Given the description of an element on the screen output the (x, y) to click on. 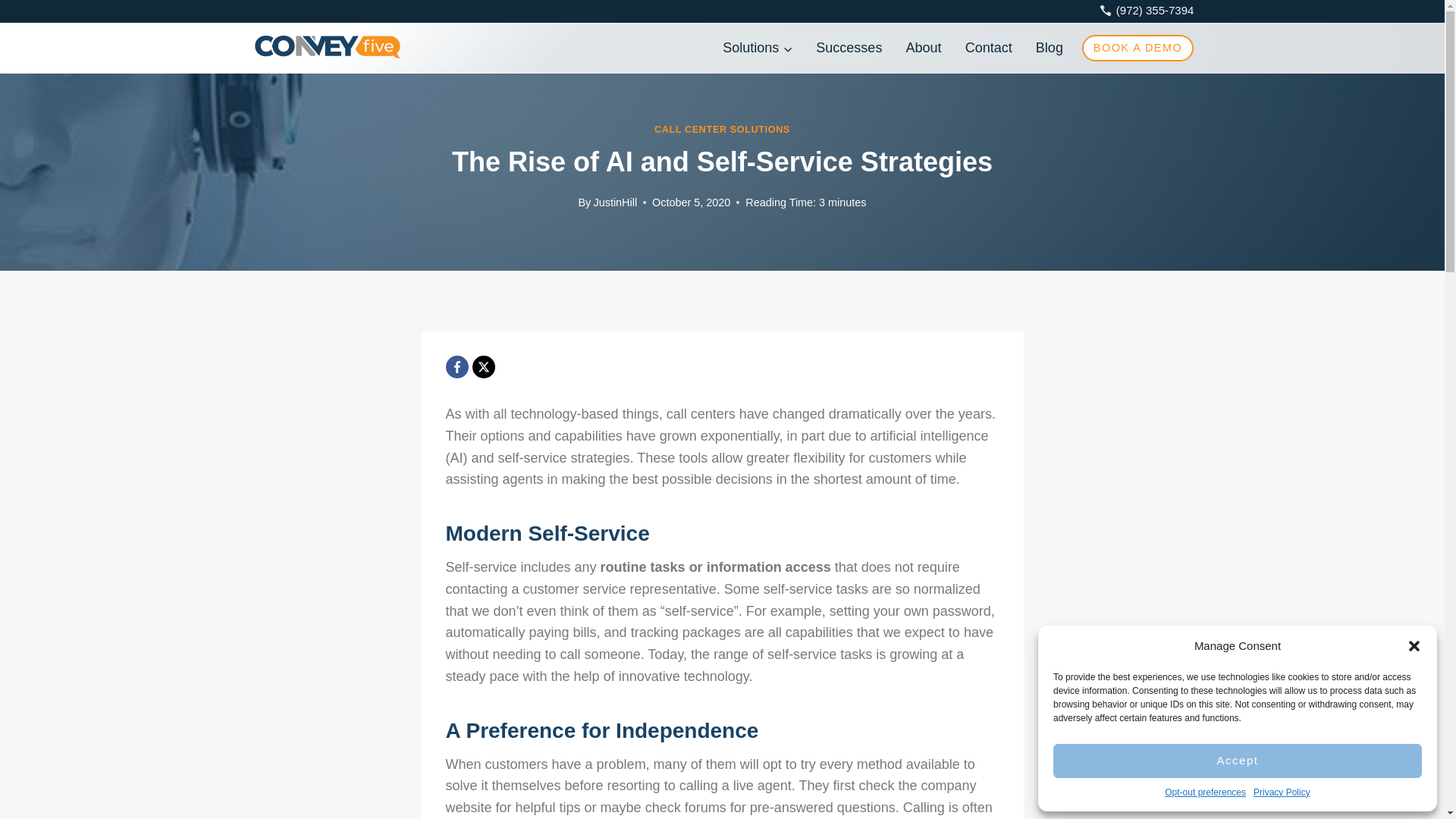
BOOK A DEMO (1136, 48)
Solutions (758, 47)
Contact (988, 47)
Opt-out preferences (1205, 792)
About (923, 47)
Blog (1048, 47)
CALL CENTER SOLUTIONS (721, 129)
Successes (849, 47)
Accept (1237, 760)
JustinHill (614, 202)
Privacy Policy (1281, 792)
